Given the description of an element on the screen output the (x, y) to click on. 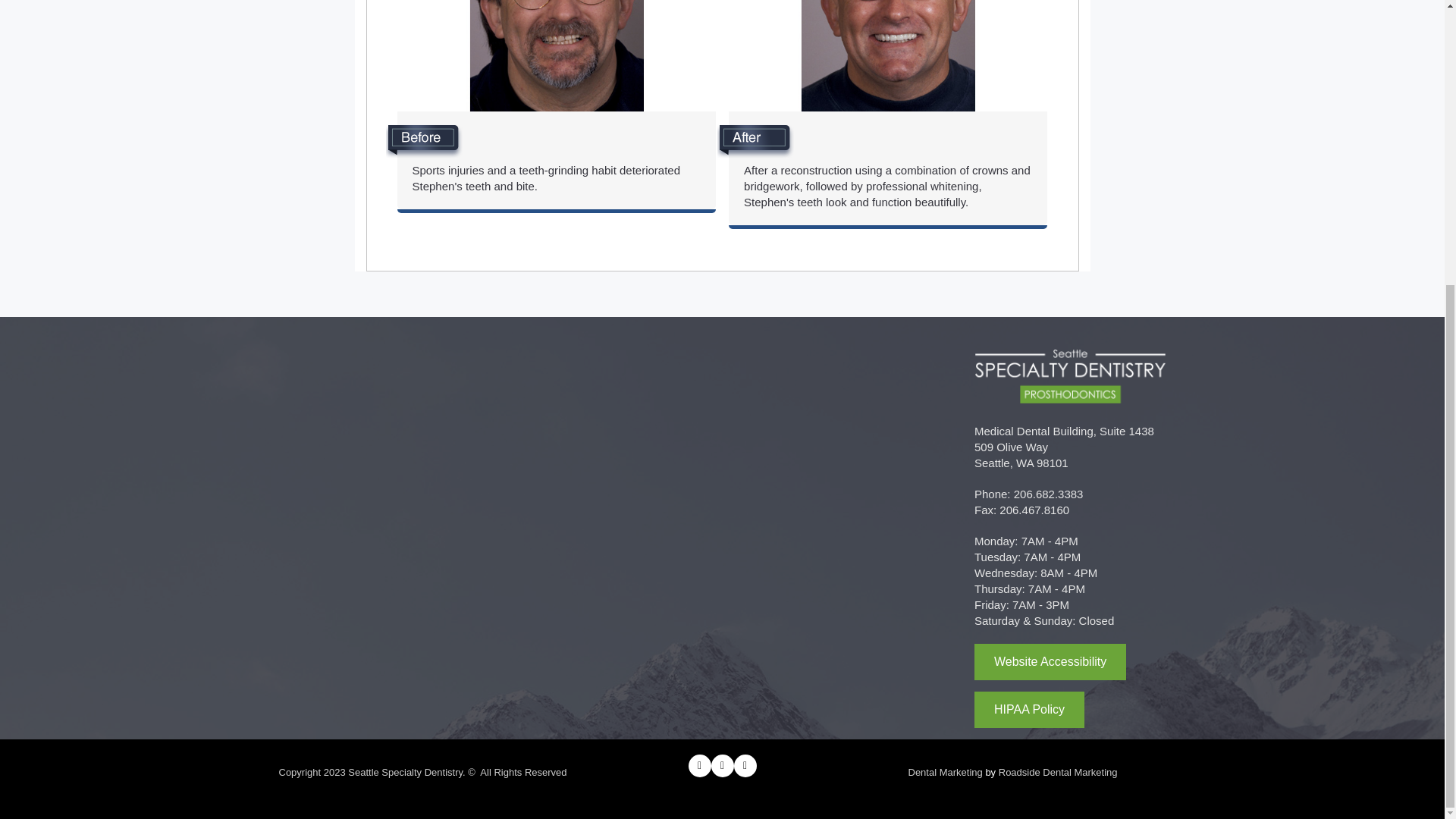
Dental Marketing (945, 772)
HIPAA Policy (1029, 709)
Roadside Dental Marketing (1058, 772)
Website Accessibility (1049, 661)
